Given the description of an element on the screen output the (x, y) to click on. 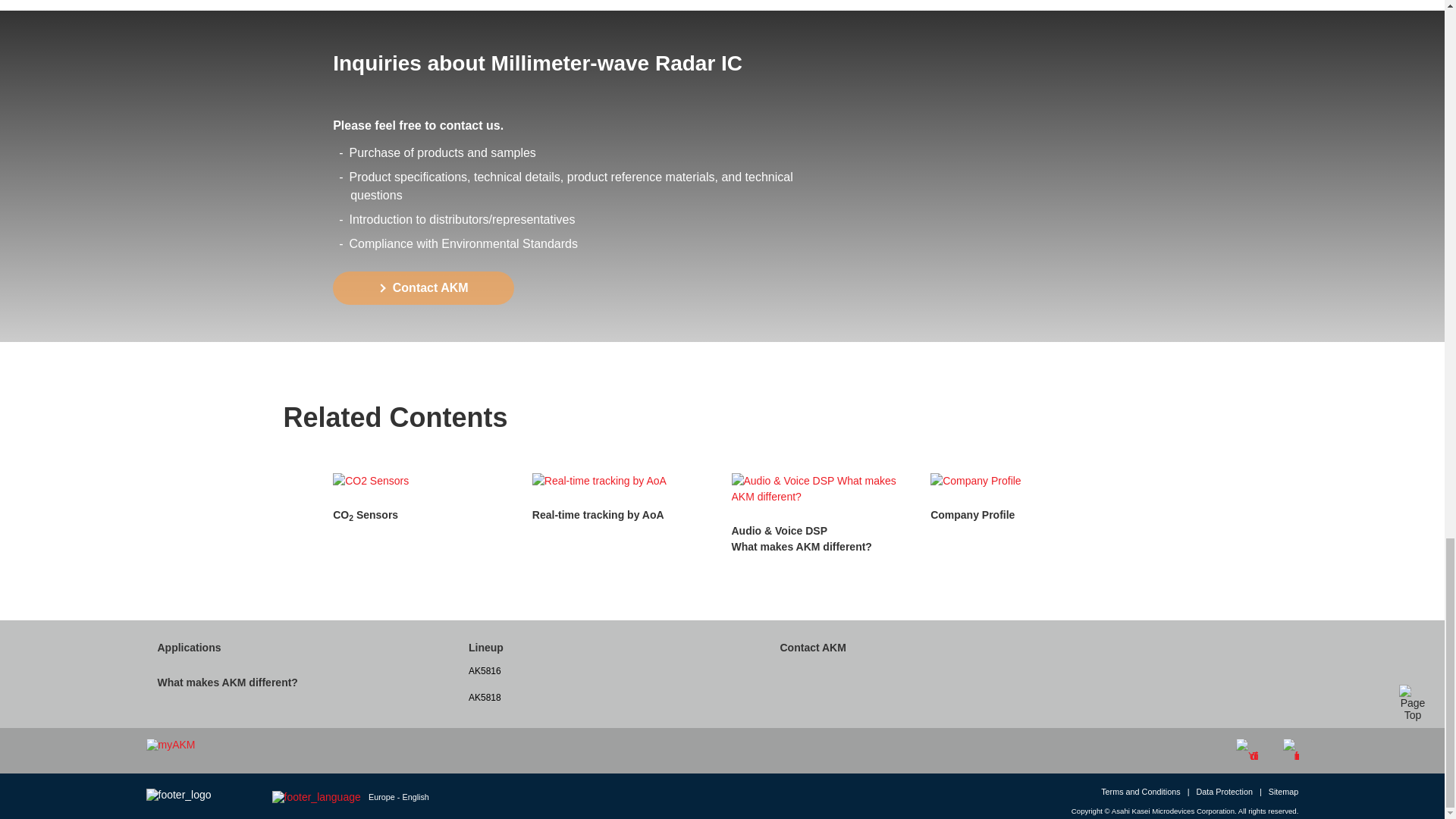
myAKM (170, 744)
DataProtection (1227, 792)
TermsandConditions (1144, 792)
Sitemap (1284, 792)
